Given the description of an element on the screen output the (x, y) to click on. 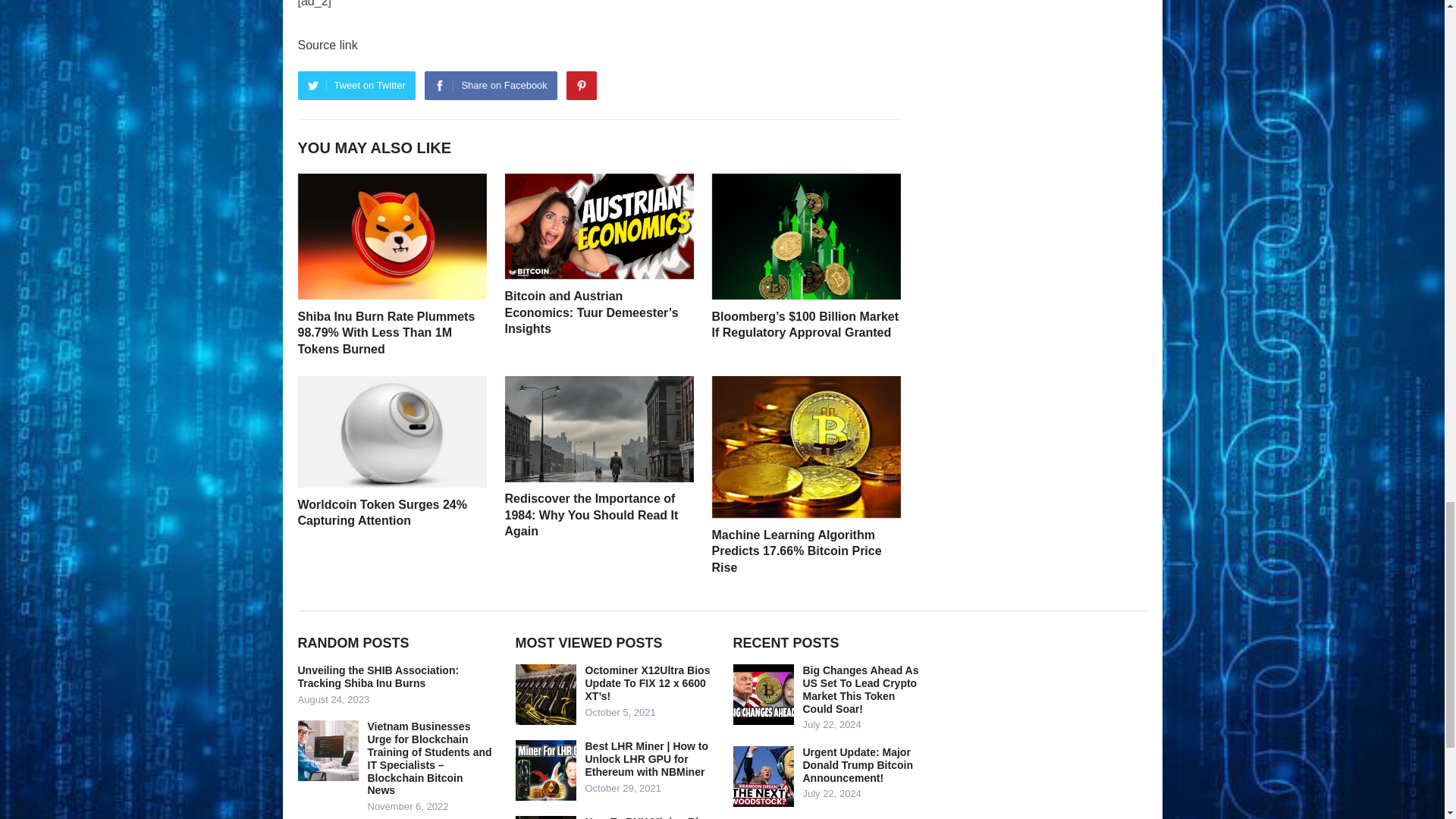
Source link (326, 44)
Bitcoin and Austrian Economics: Tuur Demeester's Insights 5 (599, 226)
Tweet on Twitter (355, 85)
